Given the description of an element on the screen output the (x, y) to click on. 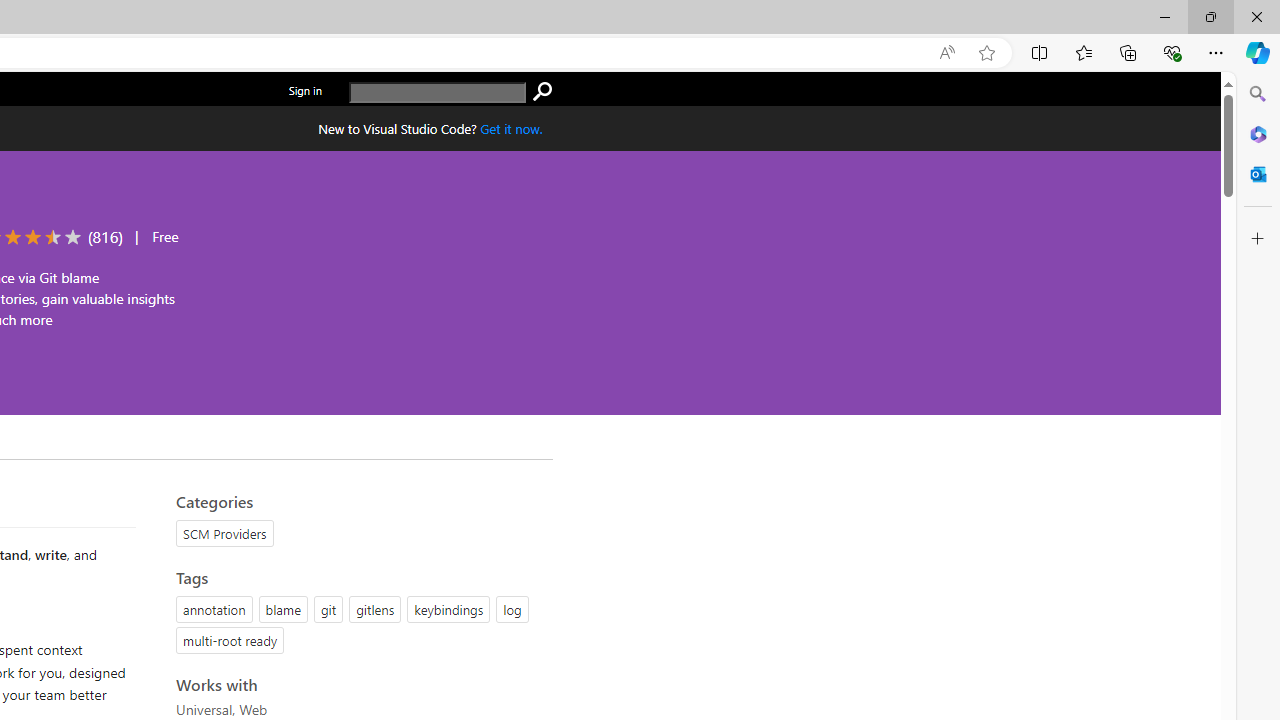
search (438, 92)
Get Visual Studio Code Now (511, 128)
